Given the description of an element on the screen output the (x, y) to click on. 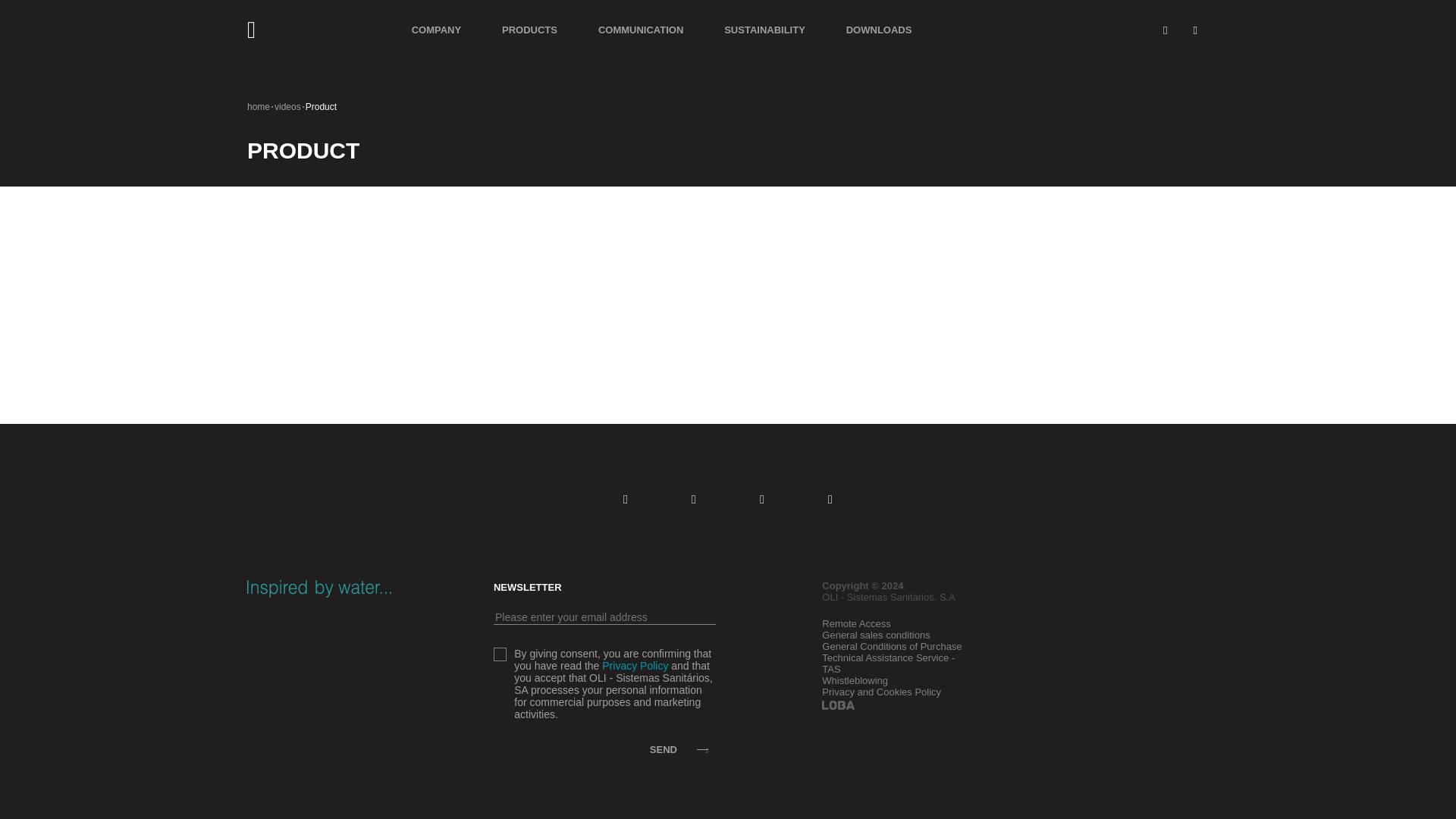
Sustainability (764, 30)
COMMUNICATION (640, 30)
Product (320, 106)
DOWNLOADS (878, 30)
Communication (640, 30)
videos (288, 106)
Downloads (878, 30)
SUSTAINABILITY (764, 30)
home (258, 106)
PRODUCTS (529, 30)
Products (529, 30)
